Given the description of an element on the screen output the (x, y) to click on. 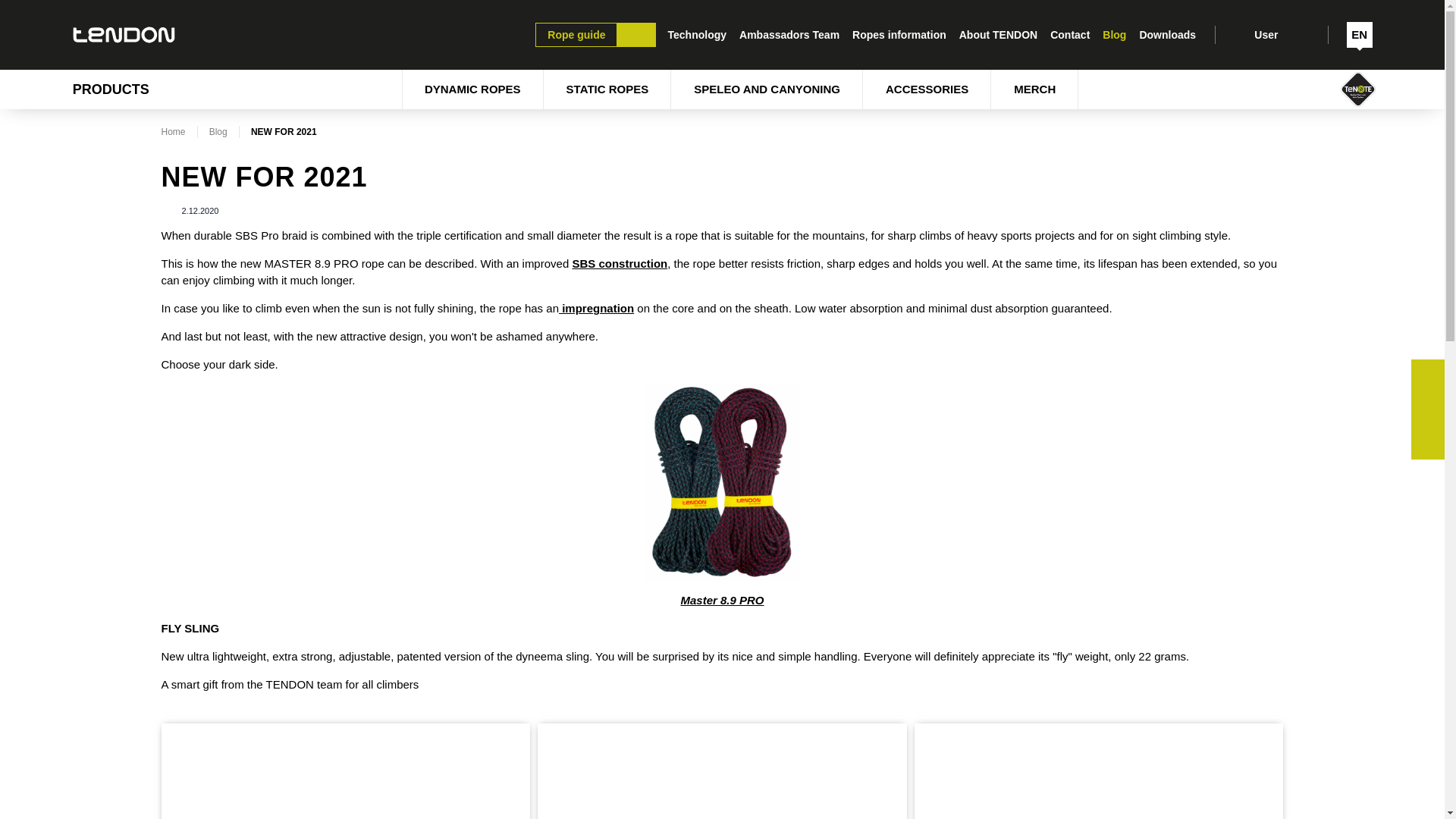
About TENDON (998, 34)
Ropes information (899, 34)
About TENDON (998, 34)
Logo (123, 34)
Downloads (1167, 34)
Contact (1069, 34)
Rope guide (595, 34)
Technology (697, 34)
Rope guide (595, 34)
Ropes information (899, 34)
